Given the description of an element on the screen output the (x, y) to click on. 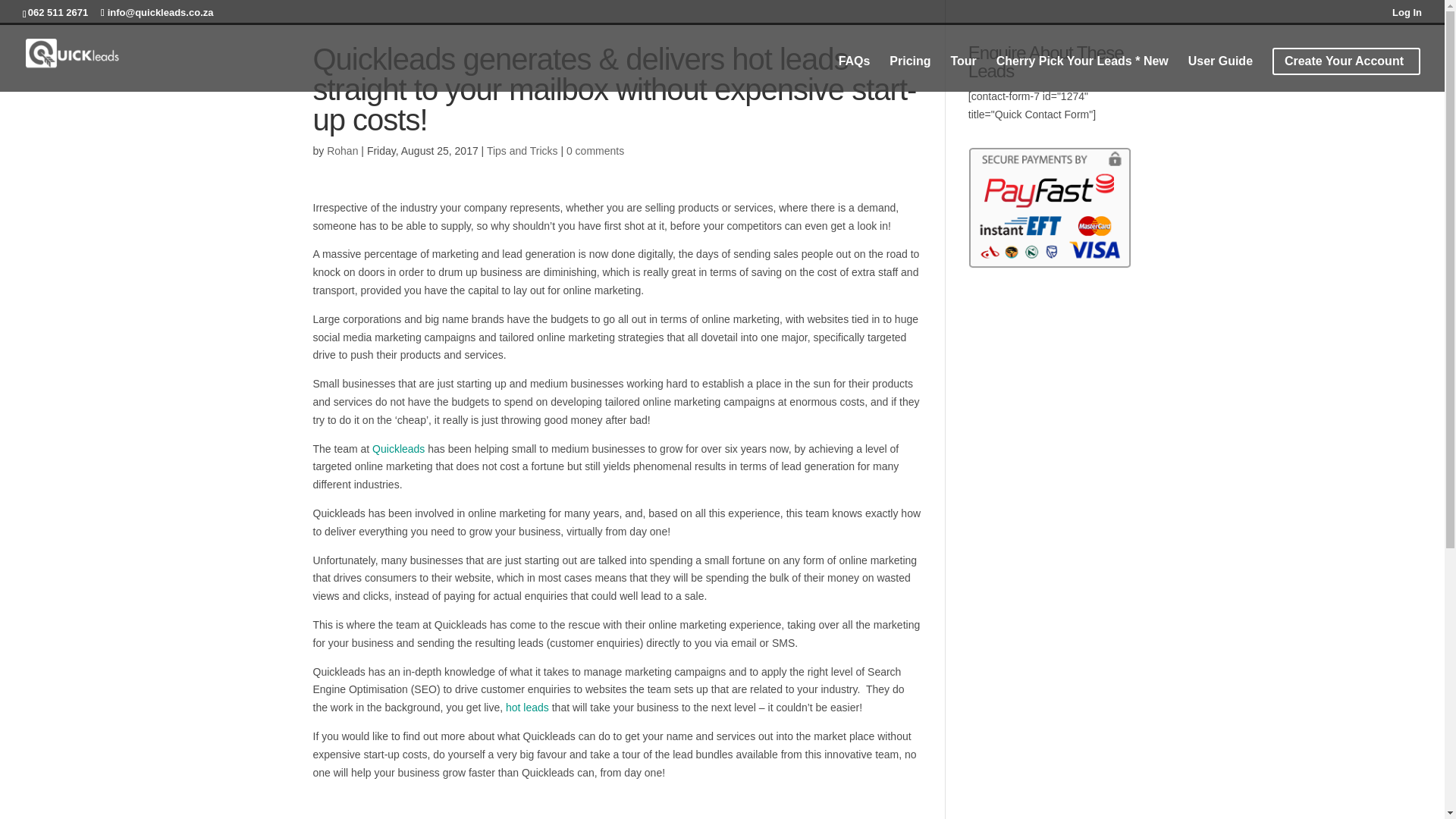
Posts by Rohan (342, 150)
hot leads (526, 707)
Create Your Account (1351, 61)
FAQs (854, 73)
Tips and Tricks (521, 150)
Pricing (909, 73)
User Guide (1220, 73)
Quickleads (398, 449)
0 comments (595, 150)
Rohan (342, 150)
Log In (1406, 16)
